Given the description of an element on the screen output the (x, y) to click on. 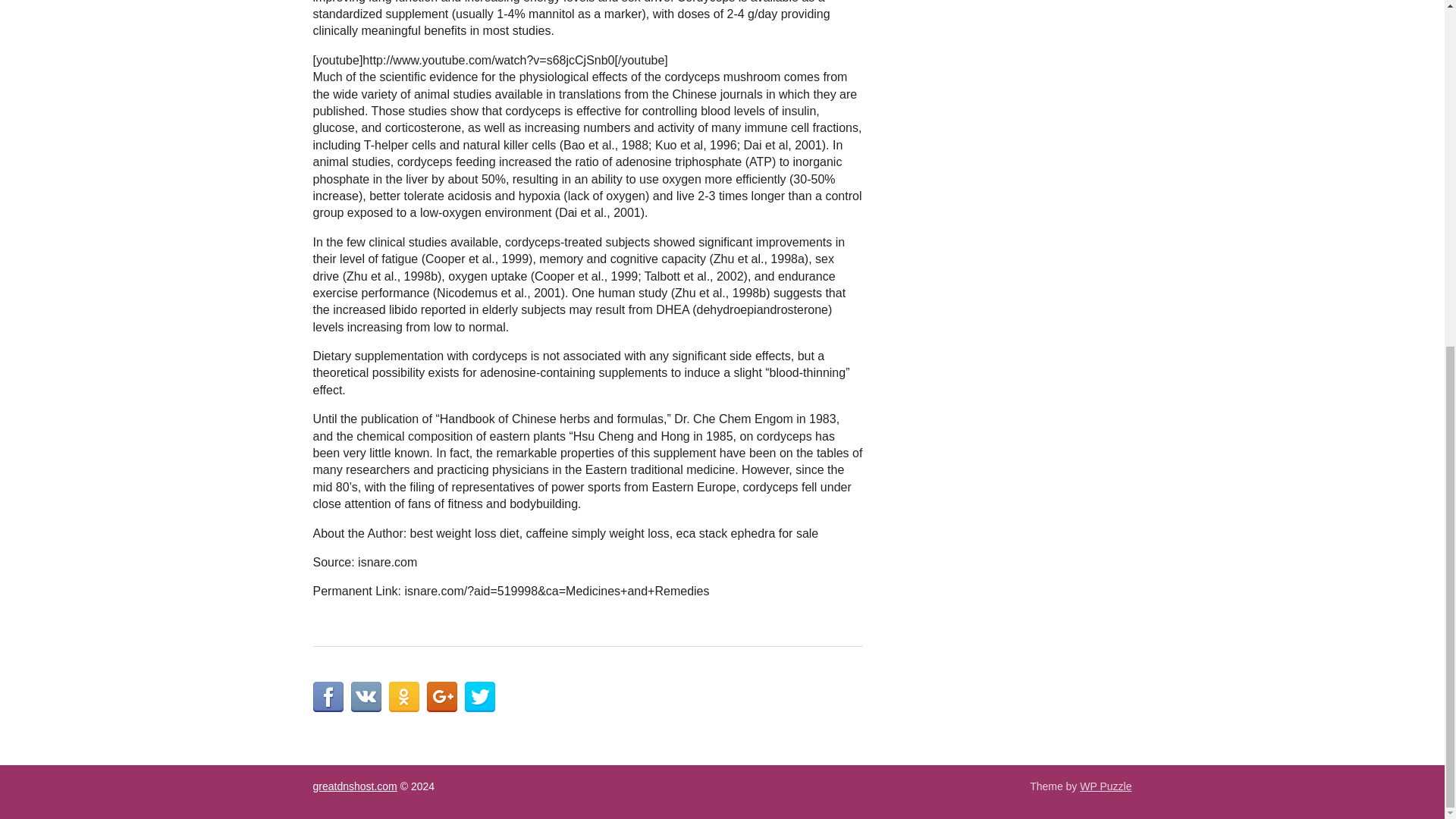
Share in Facebook (327, 696)
Share in VK (365, 696)
greatdnshost.com (354, 786)
Share in Twitter (479, 696)
WP Puzzle (1105, 786)
Share in OK (403, 696)
